Given the description of an element on the screen output the (x, y) to click on. 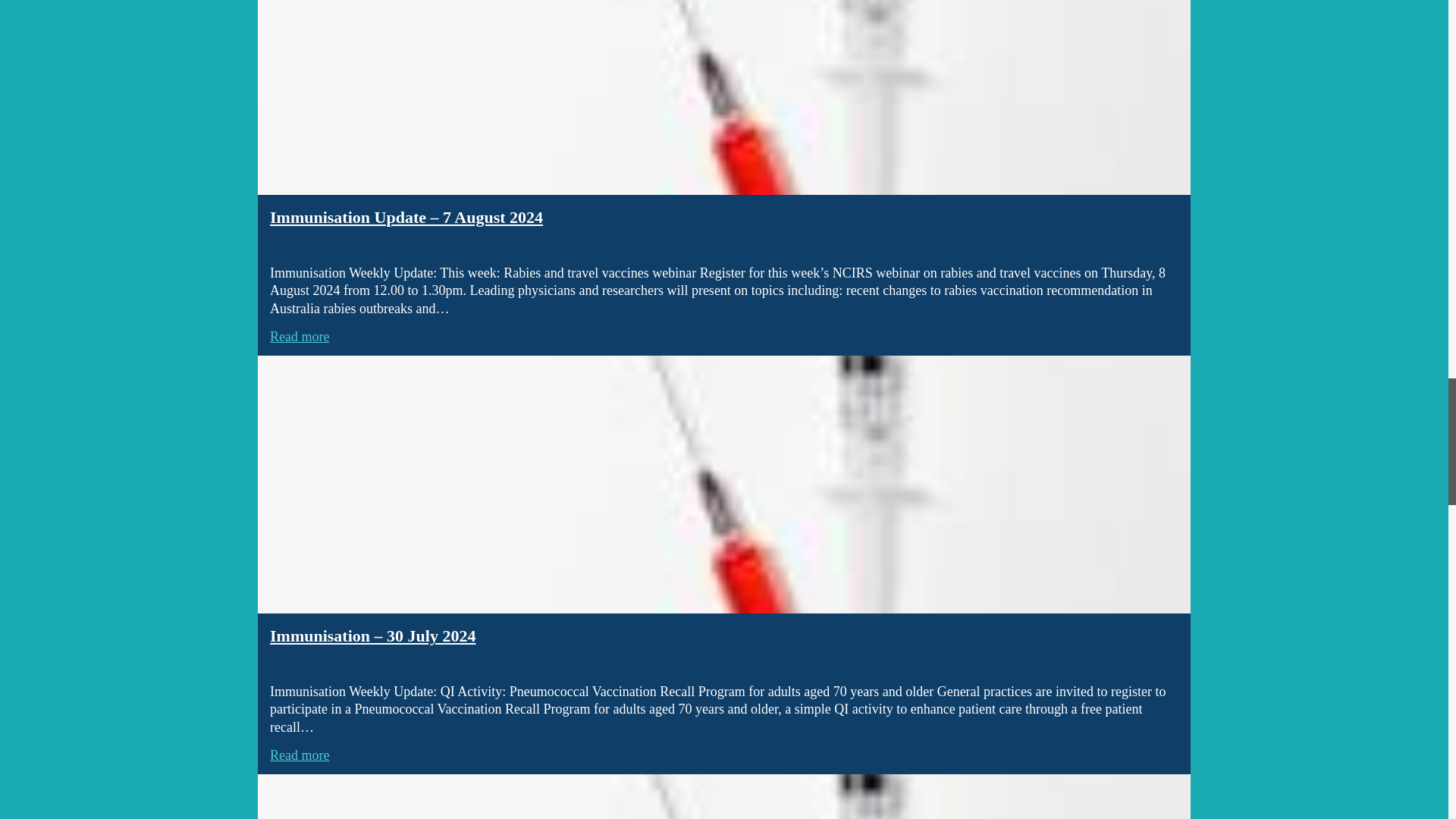
Download (724, 796)
